Given the description of an element on the screen output the (x, y) to click on. 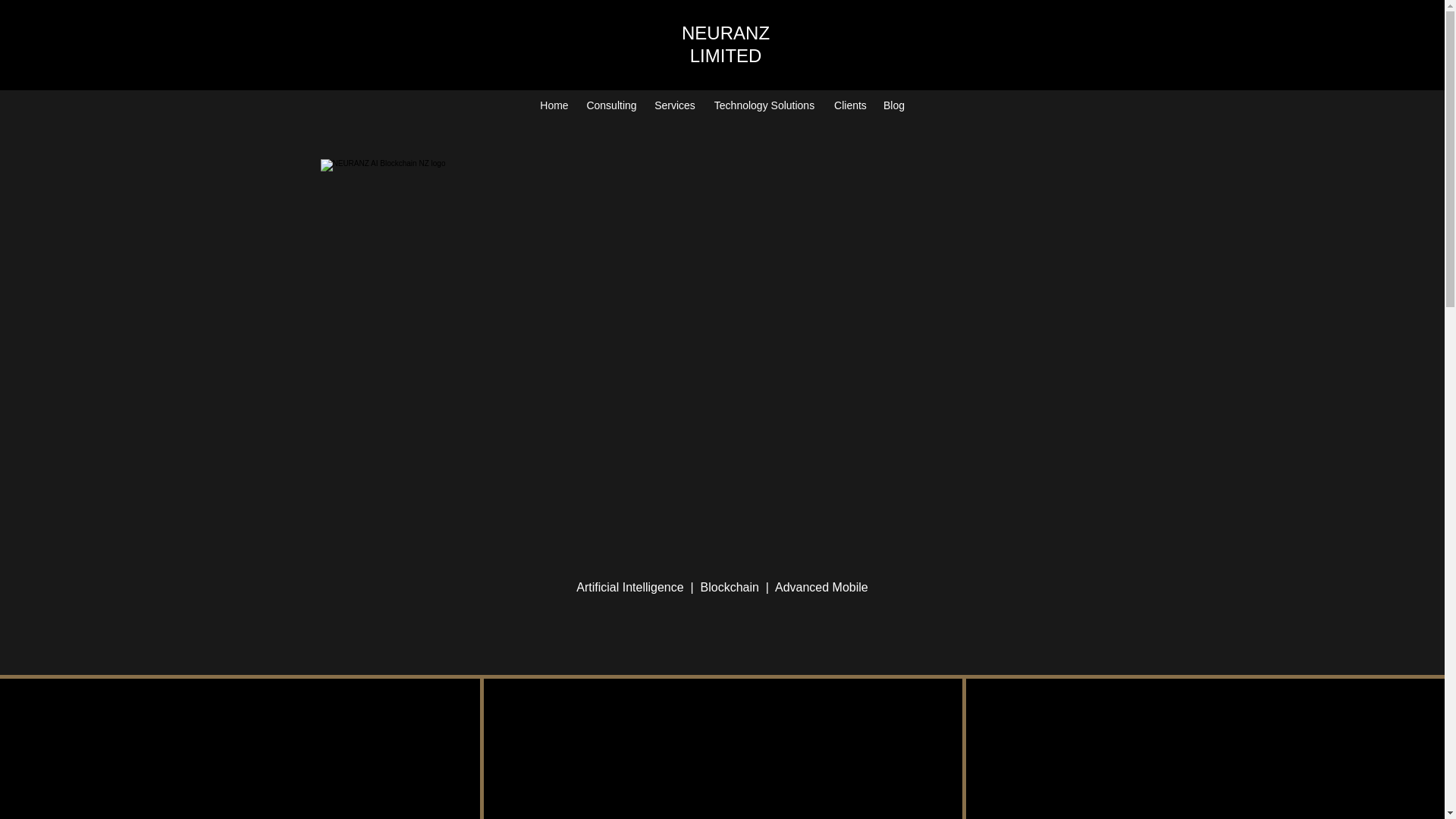
Consulting (611, 105)
Services (674, 105)
NEURANZ LIMITED (725, 44)
Clients (850, 105)
Home (553, 105)
Technology Solutions (764, 105)
Blog (893, 105)
